Given the description of an element on the screen output the (x, y) to click on. 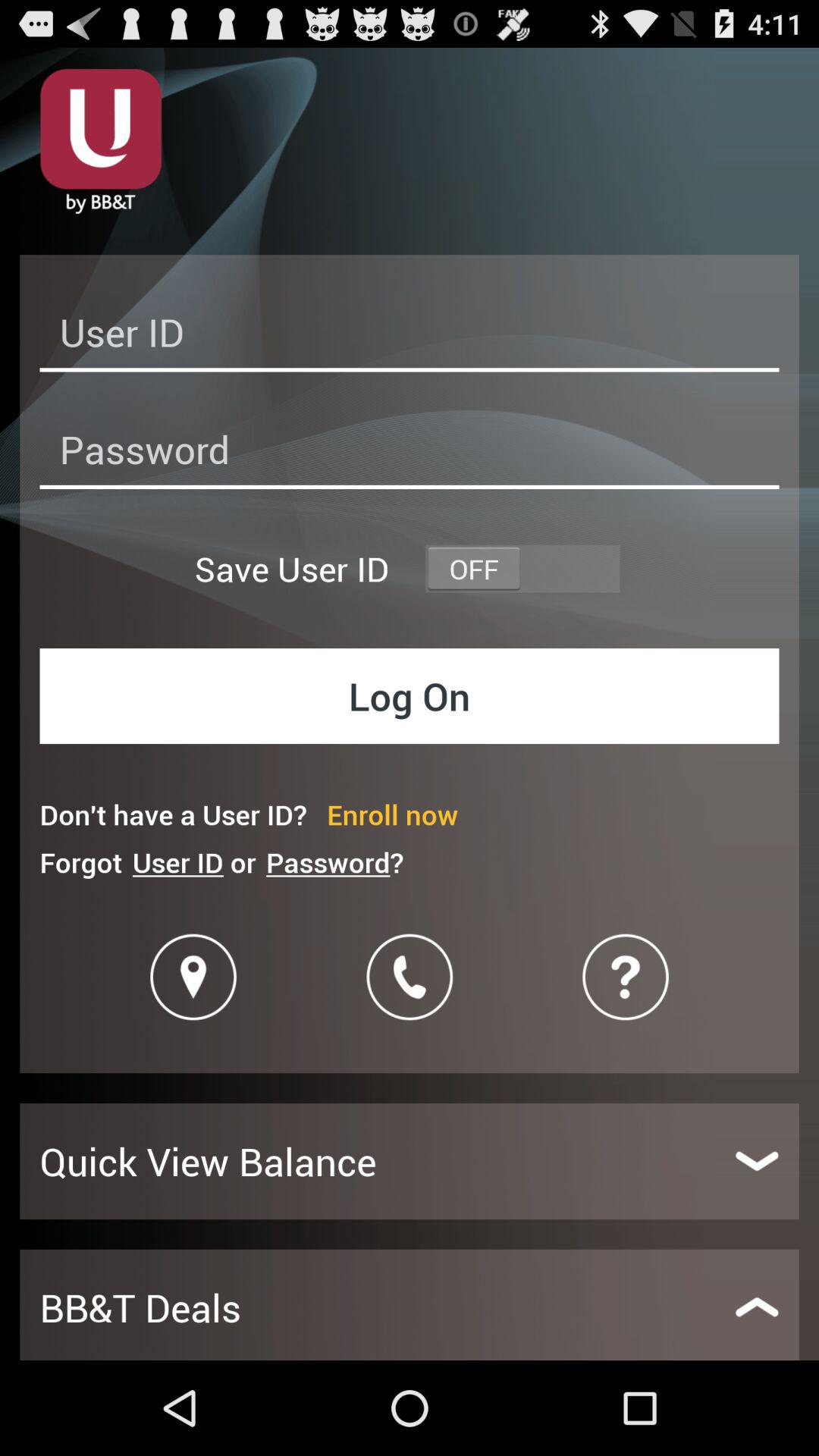
choose the item below don t have icon (334, 861)
